Given the description of an element on the screen output the (x, y) to click on. 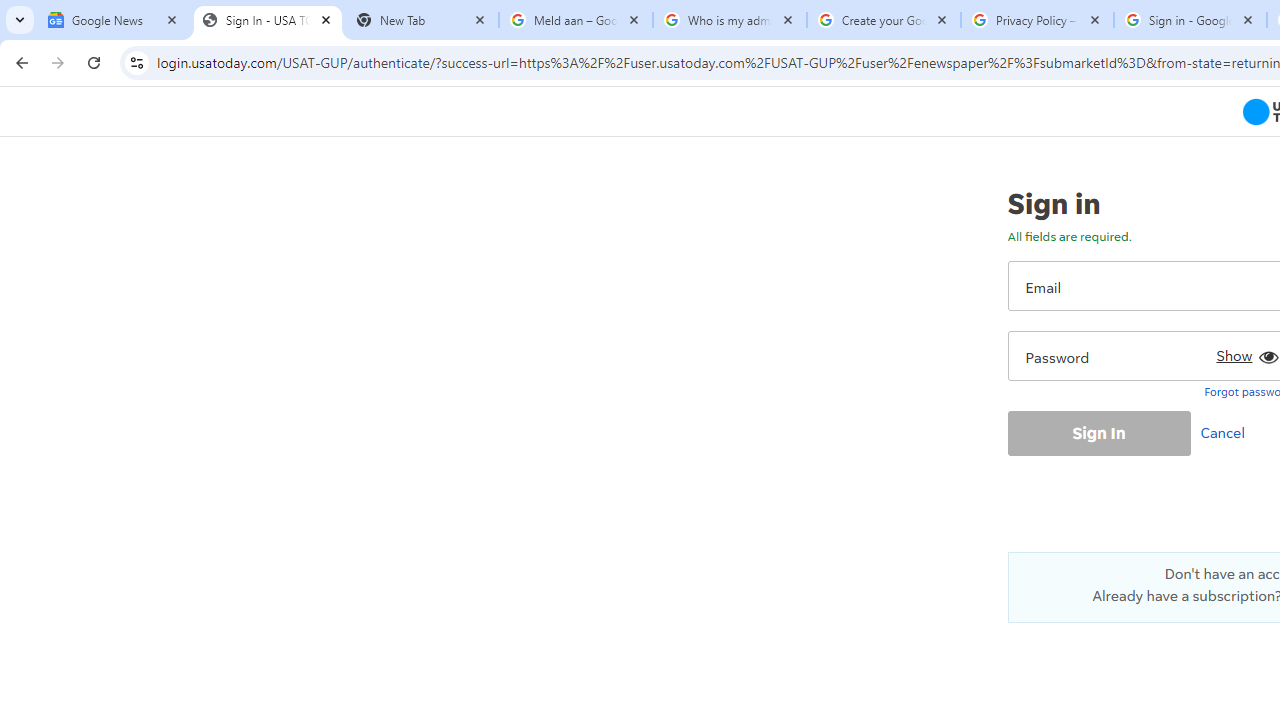
Cancel (1227, 431)
Sign in - Google Accounts (1190, 20)
System (10, 11)
Close (1247, 19)
